Given the description of an element on the screen output the (x, y) to click on. 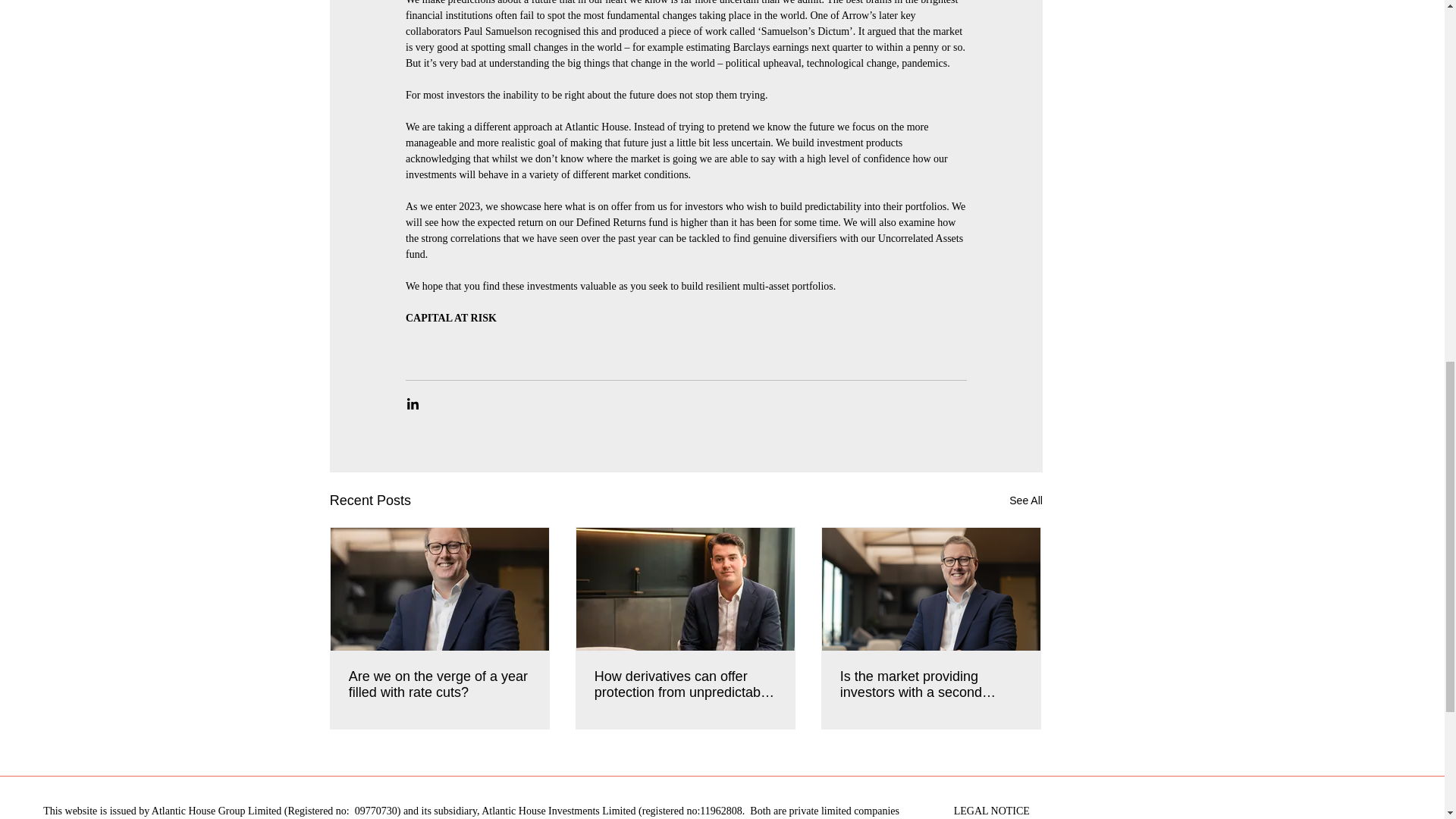
See All (1025, 500)
Are we on the verge of a year filled with rate cuts? (440, 685)
